Given the description of an element on the screen output the (x, y) to click on. 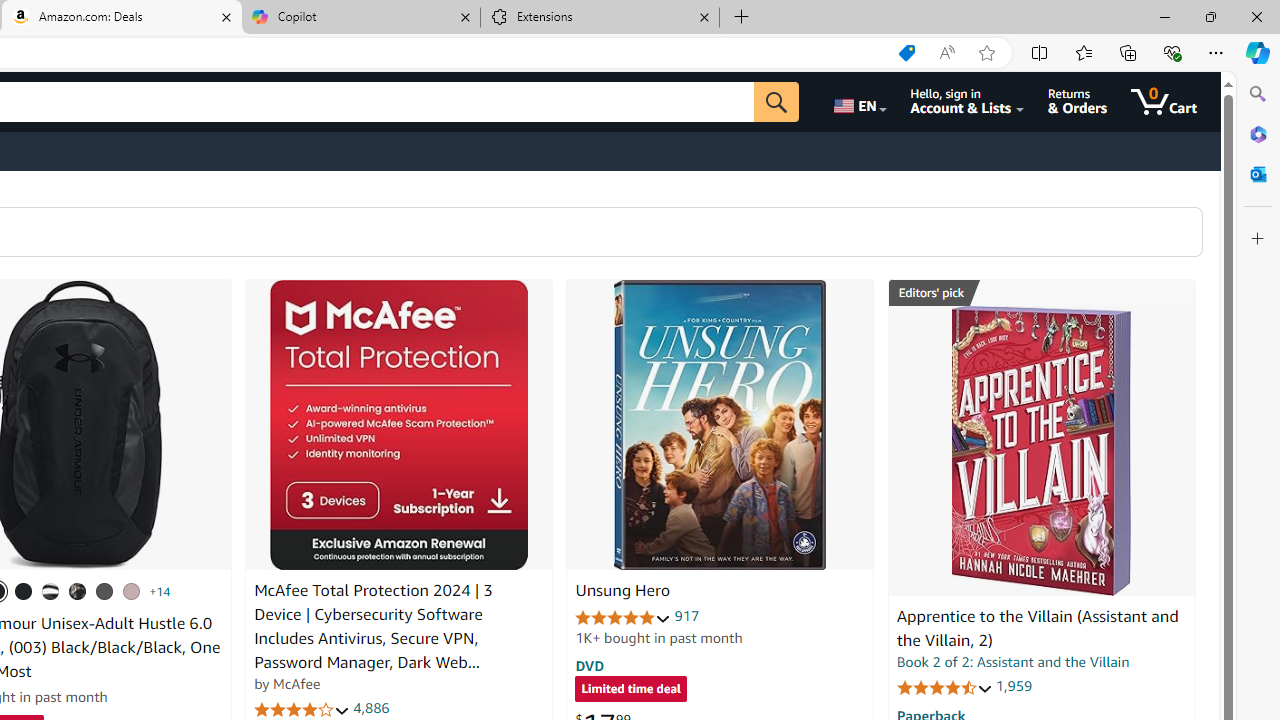
Copilot (Ctrl+Shift+.) (1258, 52)
Search (1258, 94)
Shopping in Microsoft Edge (906, 53)
Favorites (1083, 52)
Close Outlook pane (1258, 174)
4.1 out of 5 stars (301, 709)
1,959 (1013, 686)
917 (687, 616)
(001) Black / Black / Metallic Gold (24, 591)
Restore (1210, 16)
Limited time deal (630, 690)
(002) Black / Black / White (51, 591)
Split screen (1039, 52)
(005) Black Full Heather / Black / Metallic Gold (104, 591)
